Given the description of an element on the screen output the (x, y) to click on. 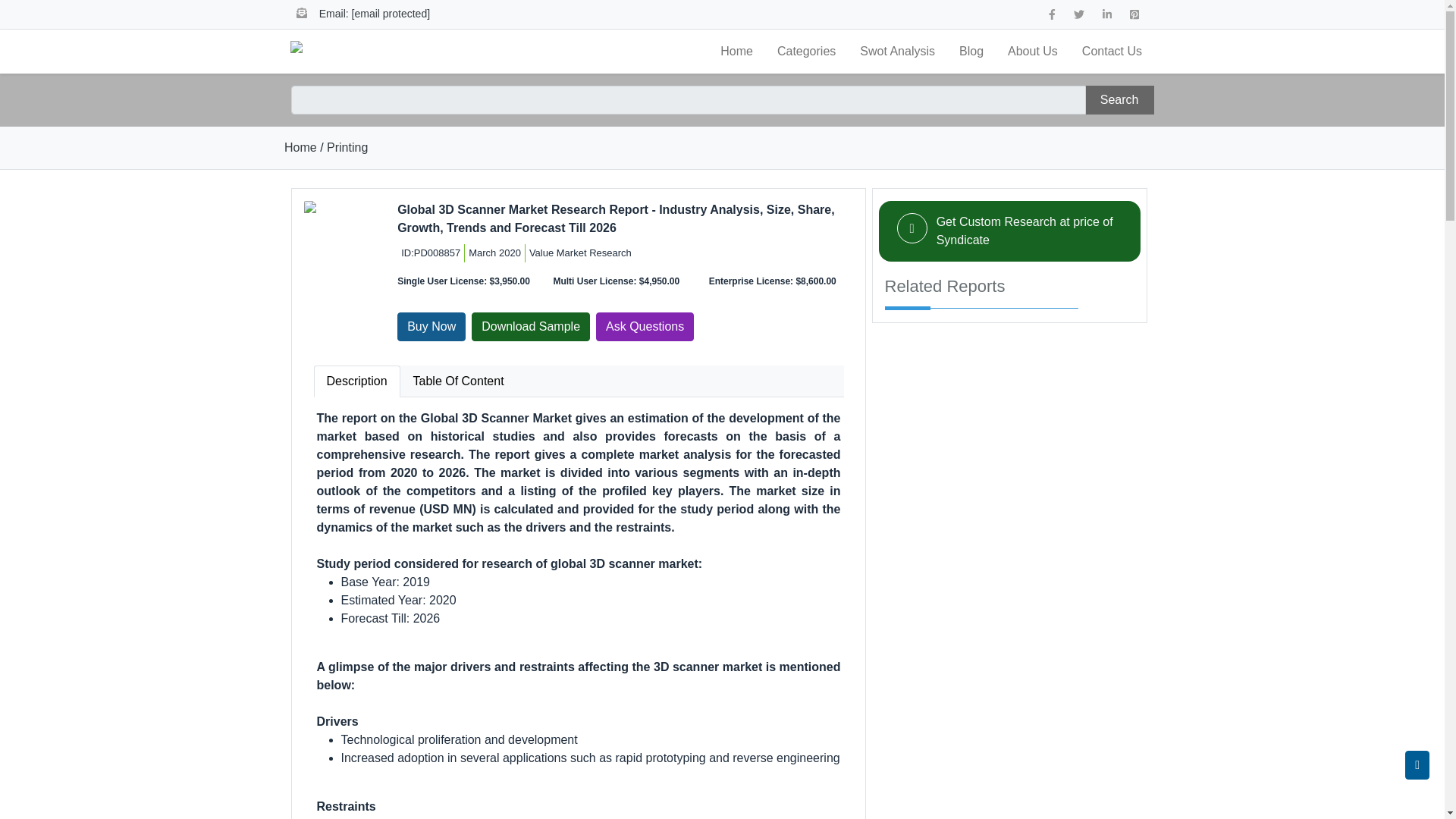
Blog (971, 51)
Printing (347, 146)
Search (1119, 99)
About Us (1032, 51)
Home (300, 147)
Ask Questions (644, 326)
Download Sample (530, 326)
Swot Analysis (897, 51)
Home (736, 51)
Contact Us (1112, 51)
Get Custom Research at price of Syndicate (1024, 230)
Buy Now (431, 326)
Categories (806, 51)
